Given the description of an element on the screen output the (x, y) to click on. 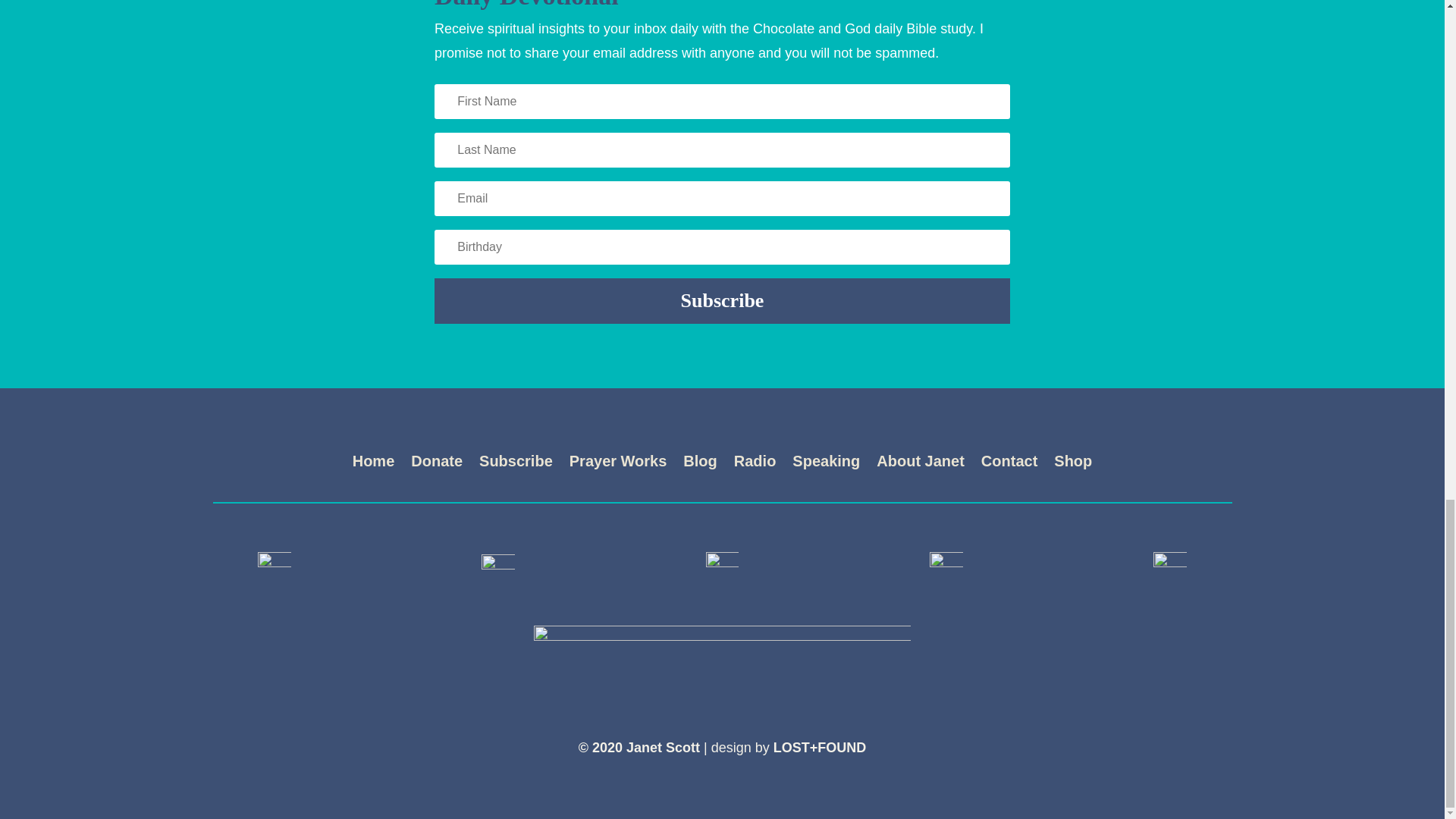
Donate (436, 463)
Shop (1073, 463)
facebok-footer-icon (274, 567)
twitter-footer-icon (498, 566)
Radio (754, 463)
logo-footer (722, 661)
Prayer Works (617, 463)
instagram-footer-icon (722, 567)
Contact (1008, 463)
Blog (699, 463)
